Given the description of an element on the screen output the (x, y) to click on. 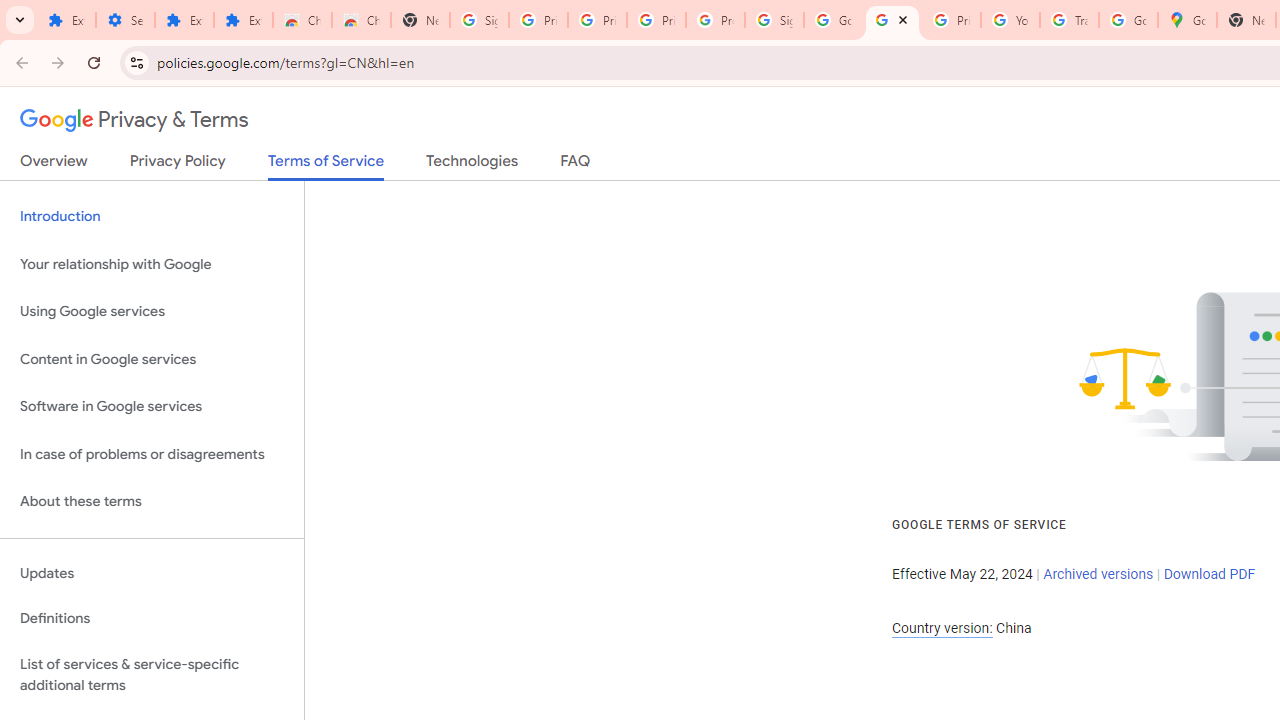
About these terms (152, 502)
Using Google services (152, 312)
Chrome Web Store (301, 20)
Sign in - Google Accounts (774, 20)
Sign in - Google Accounts (479, 20)
